Given the description of an element on the screen output the (x, y) to click on. 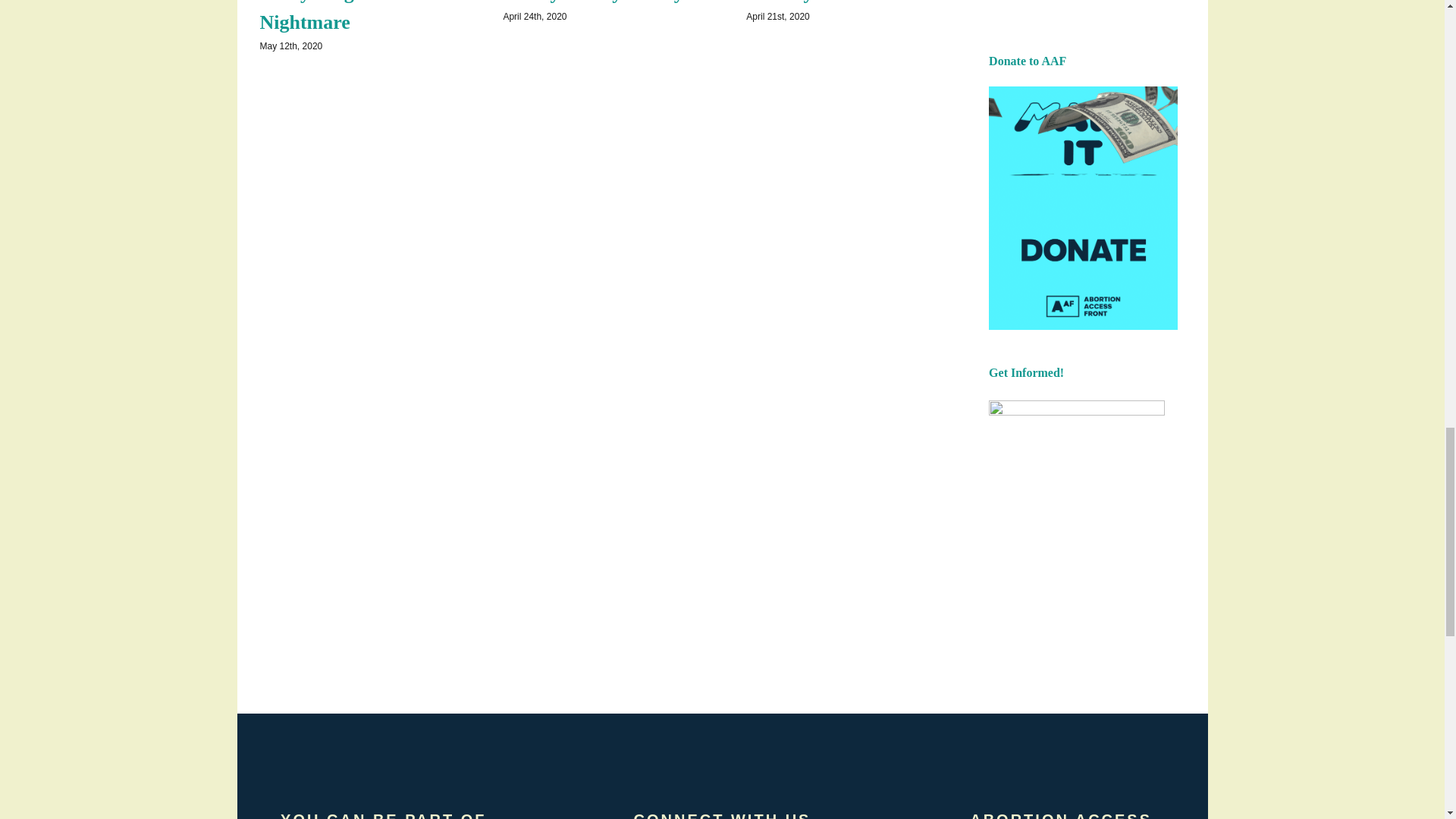
Everything Is A Nightmare (324, 16)
Goodbye To All That (833, 2)
Friday Friday Friday! (596, 2)
